Given the description of an element on the screen output the (x, y) to click on. 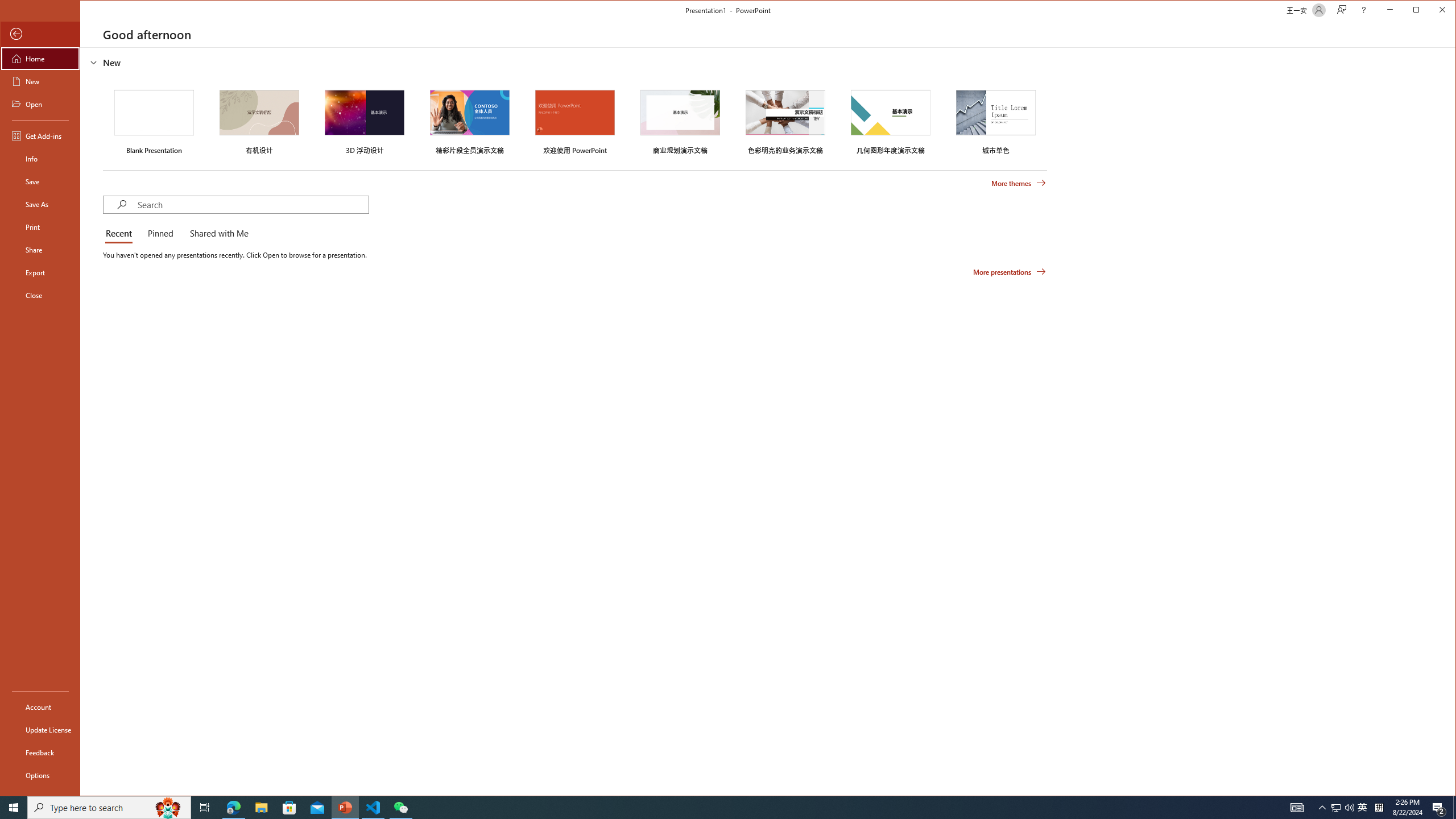
Microsoft Edge - 1 running window (233, 807)
Action Center, 2 new notifications (1439, 807)
WeChat - 1 running window (400, 807)
Update License (40, 729)
Get Add-ins (40, 135)
Tray Input Indicator - Chinese (Simplified, China) (1378, 807)
Task View (204, 807)
Back (40, 34)
